Given the description of an element on the screen output the (x, y) to click on. 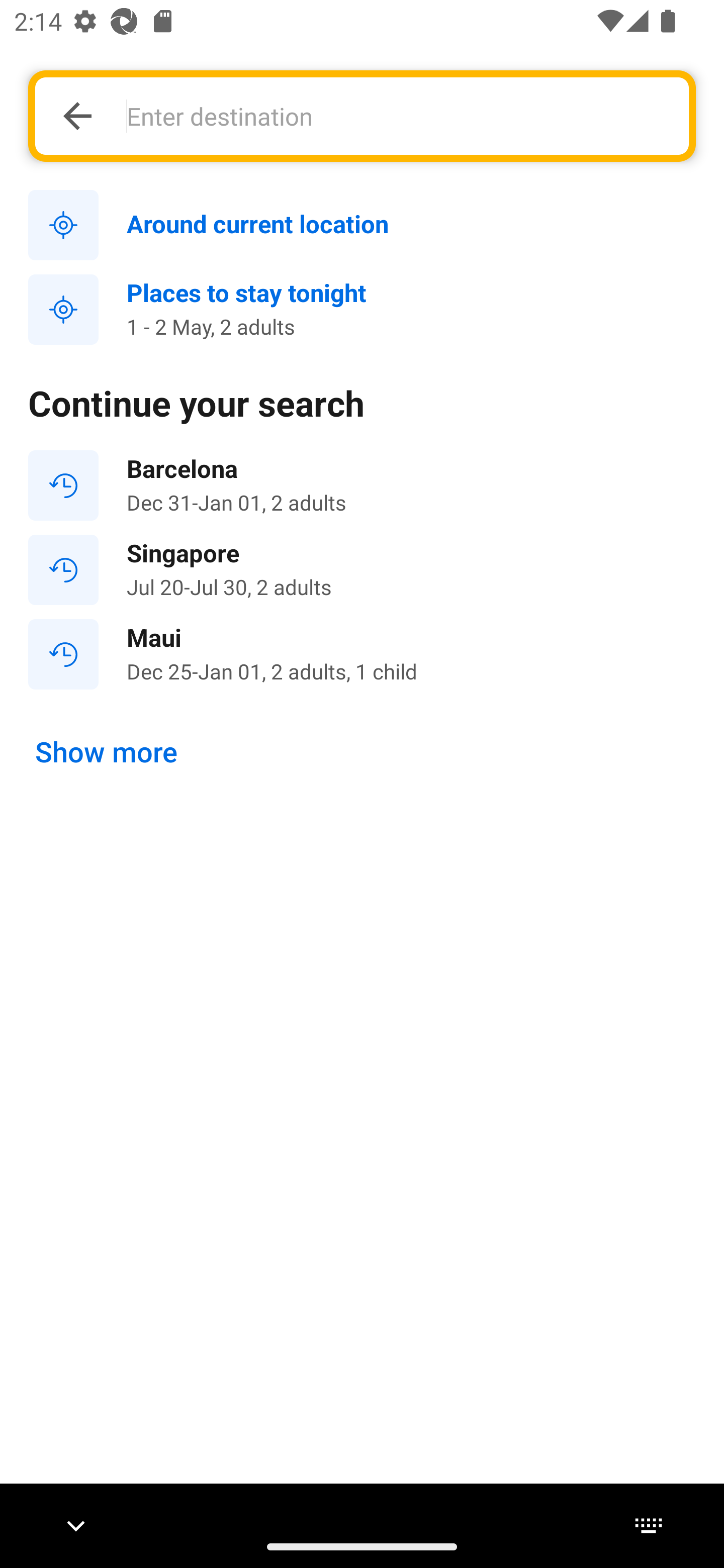
Enter destination (396, 115)
Around current location (362, 225)
Places to stay tonight 1 - 2 May, 2 adults (362, 309)
Barcelona Dec 31-Jan 01, 2 adults  (362, 485)
Singapore Jul 20-Jul 30, 2 adults  (362, 569)
Maui Dec 25-Jan 01, 2 adults, 1 child (362, 653)
Show more (106, 752)
